Given the description of an element on the screen output the (x, y) to click on. 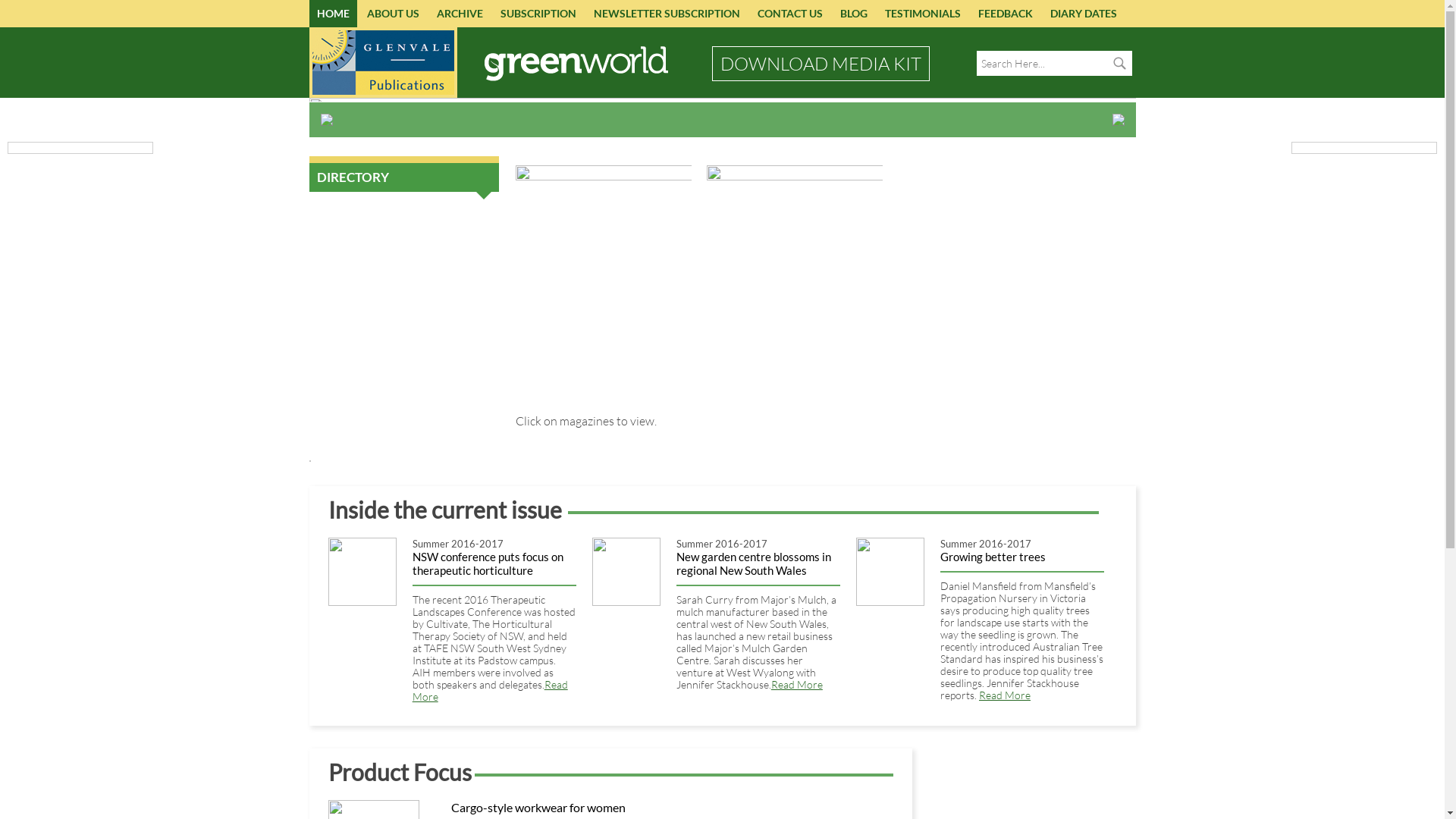
BLOG Element type: text (853, 13)
GO Element type: text (1119, 62)
HOME Element type: text (333, 13)
FEEDBACK Element type: text (1005, 13)
DIARY DATES Element type: text (1082, 13)
Read More Element type: text (796, 683)
CONTACT US Element type: text (789, 13)
ARCHIVE Element type: text (459, 13)
Read More Element type: text (1004, 694)
SUBSCRIPTION Element type: text (537, 13)
Greenworld Magazine Element type: hover (576, 62)
NEWSLETTER SUBSCRIPTION Element type: text (665, 13)
Read More Element type: text (489, 689)
DOWNLOAD MEDIA KIT Element type: text (820, 63)
Greenworld Element type: hover (722, 233)
TESTIMONIALS Element type: text (921, 13)
ABOUT US Element type: text (392, 13)
